Given the description of an element on the screen output the (x, y) to click on. 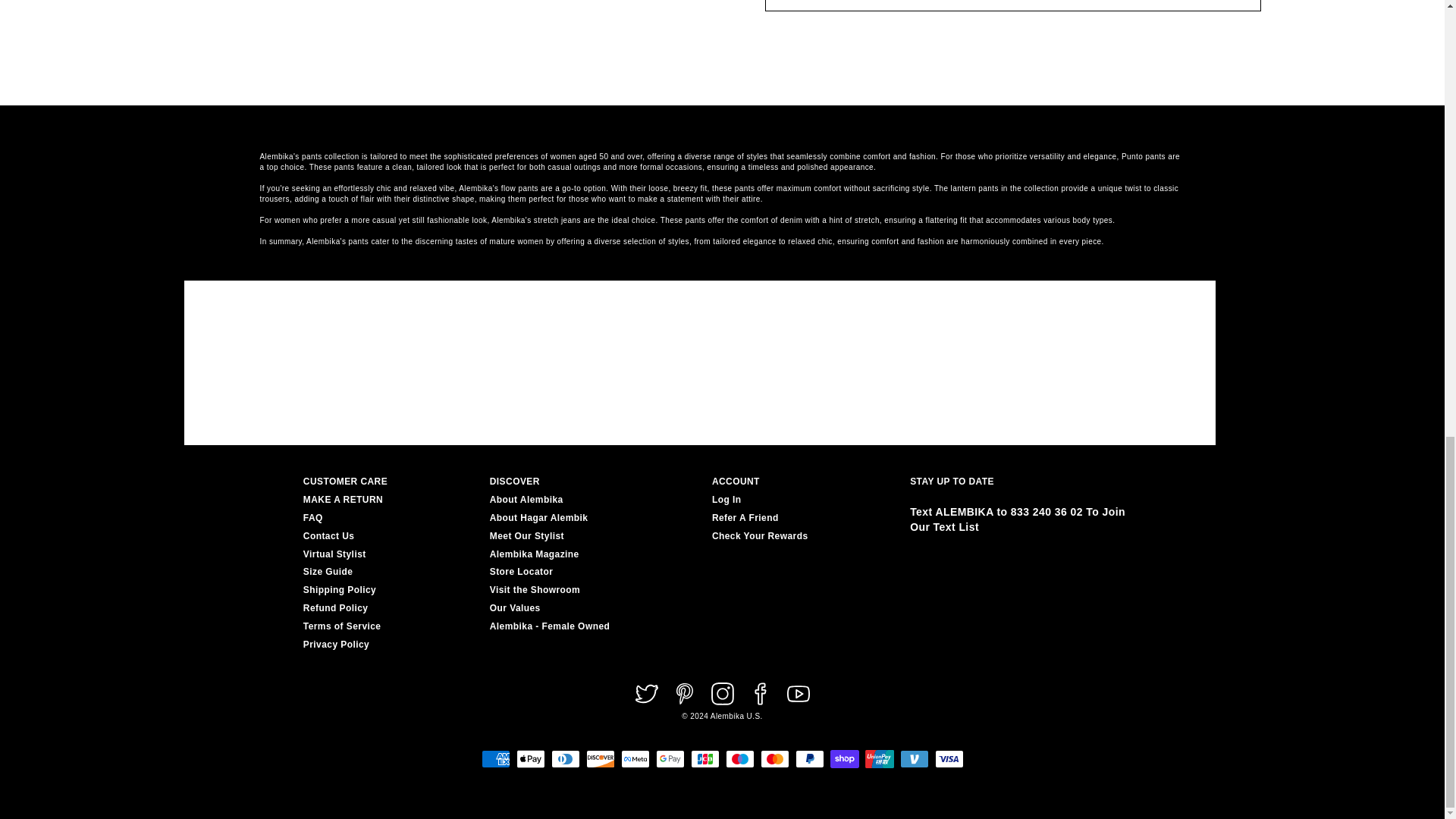
Mastercard (774, 759)
Apple Pay (529, 759)
Diners Club (564, 759)
Discover (599, 759)
Maestro (739, 759)
Meta Pay (634, 759)
Google Pay (669, 759)
JCB (704, 759)
American Express (494, 759)
